Given the description of an element on the screen output the (x, y) to click on. 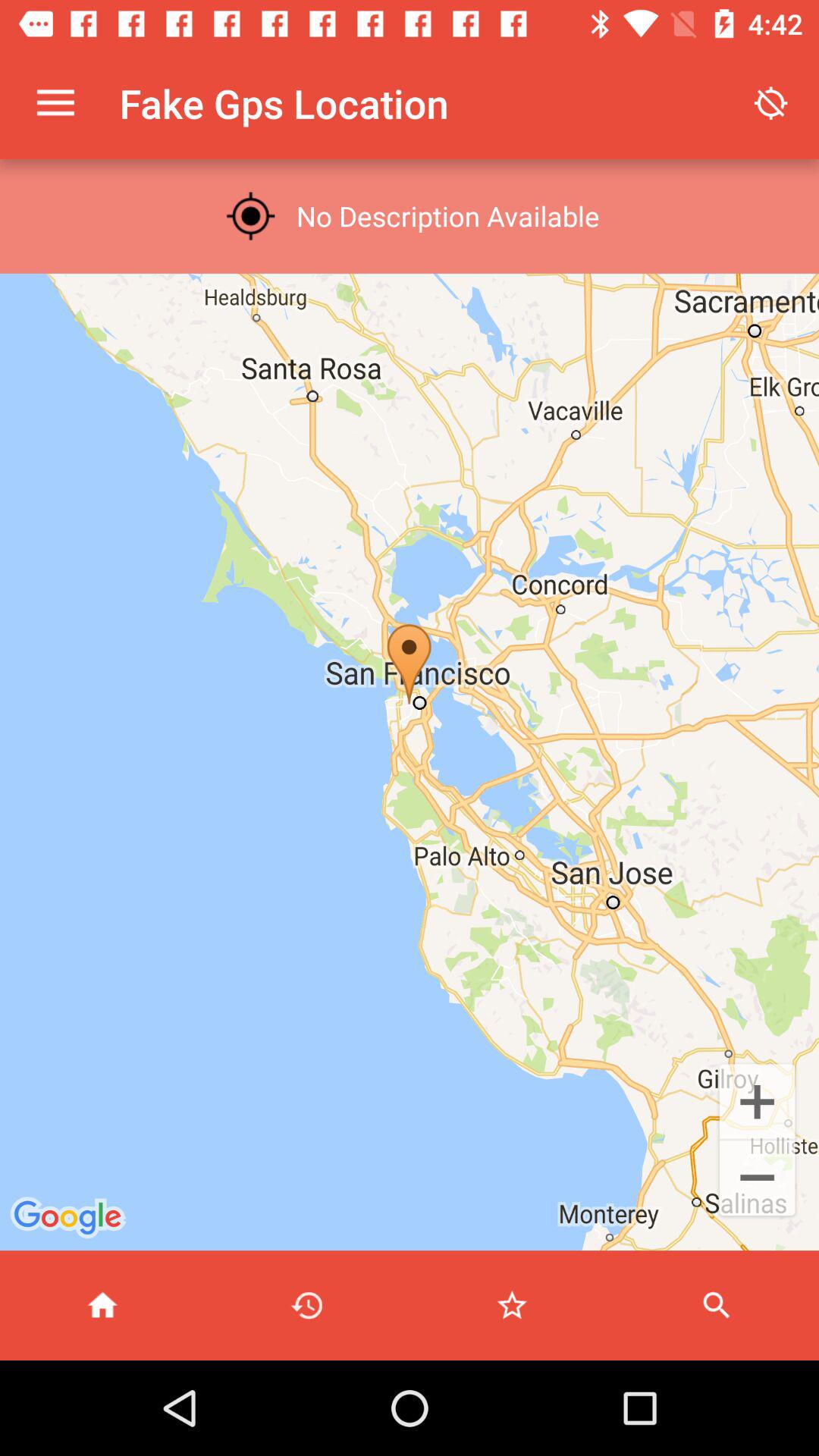
search for location (716, 1305)
